Given the description of an element on the screen output the (x, y) to click on. 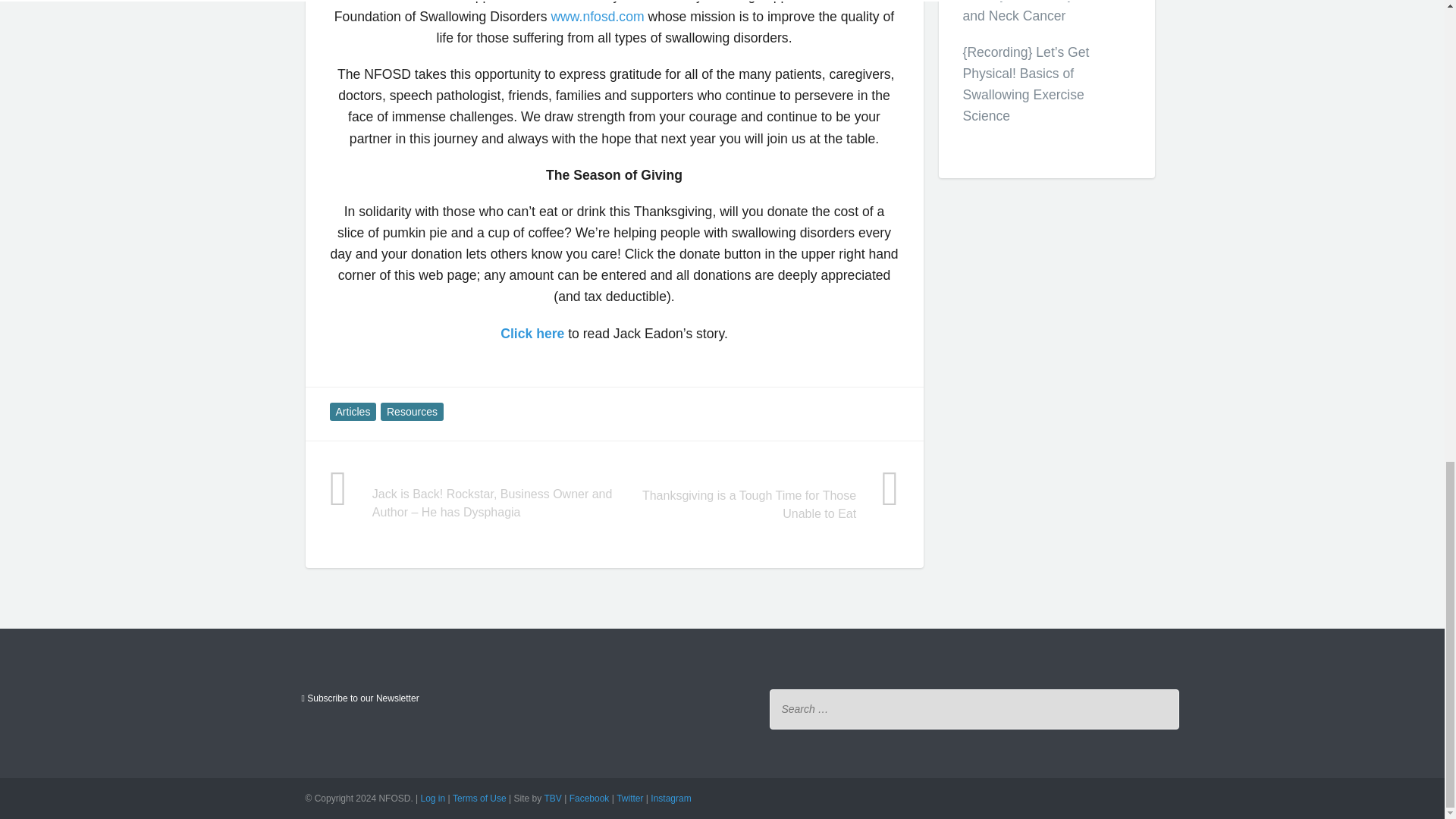
Subscribe (360, 697)
